Given the description of an element on the screen output the (x, y) to click on. 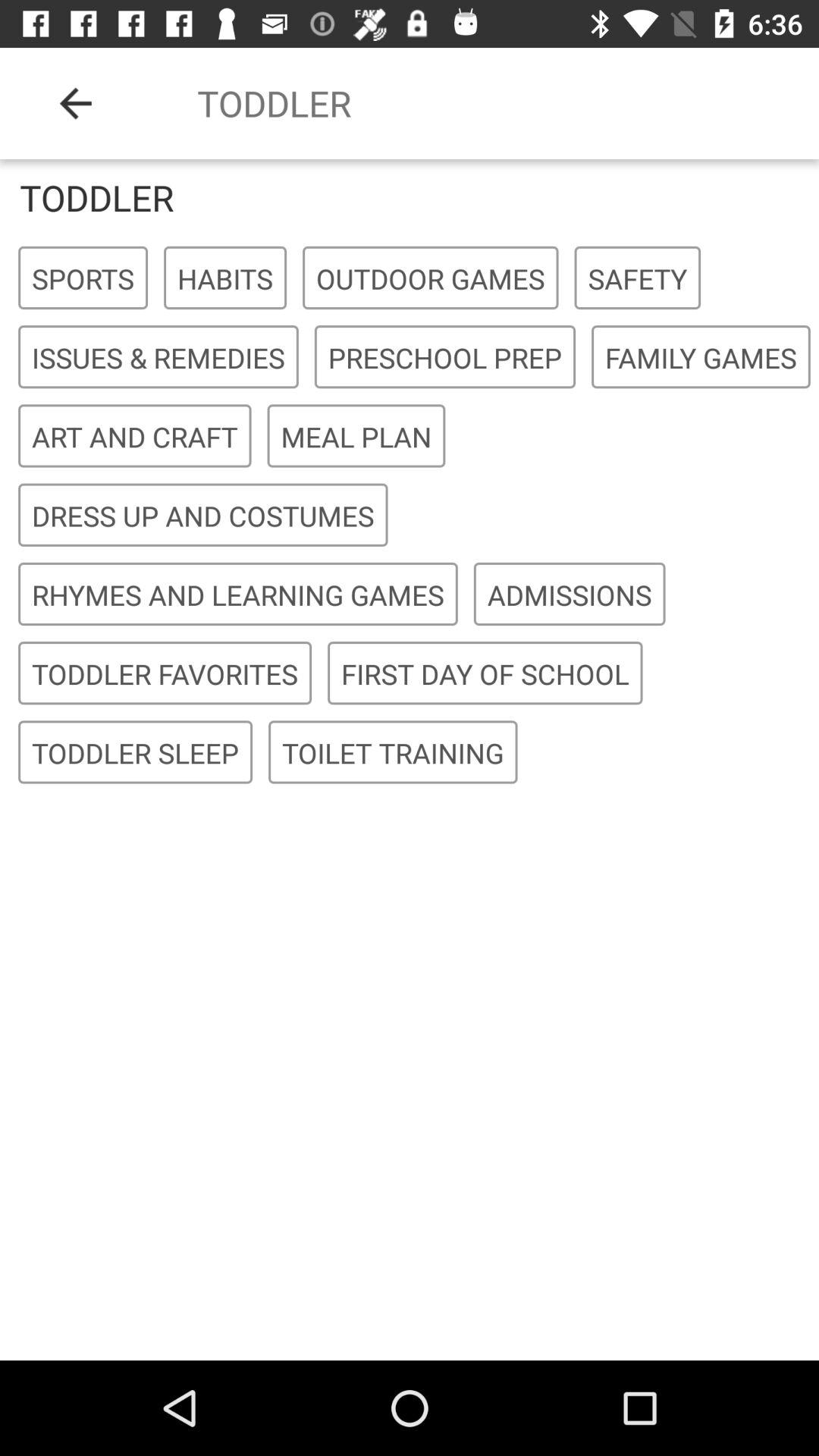
press the icon below toddler item (82, 278)
